Given the description of an element on the screen output the (x, y) to click on. 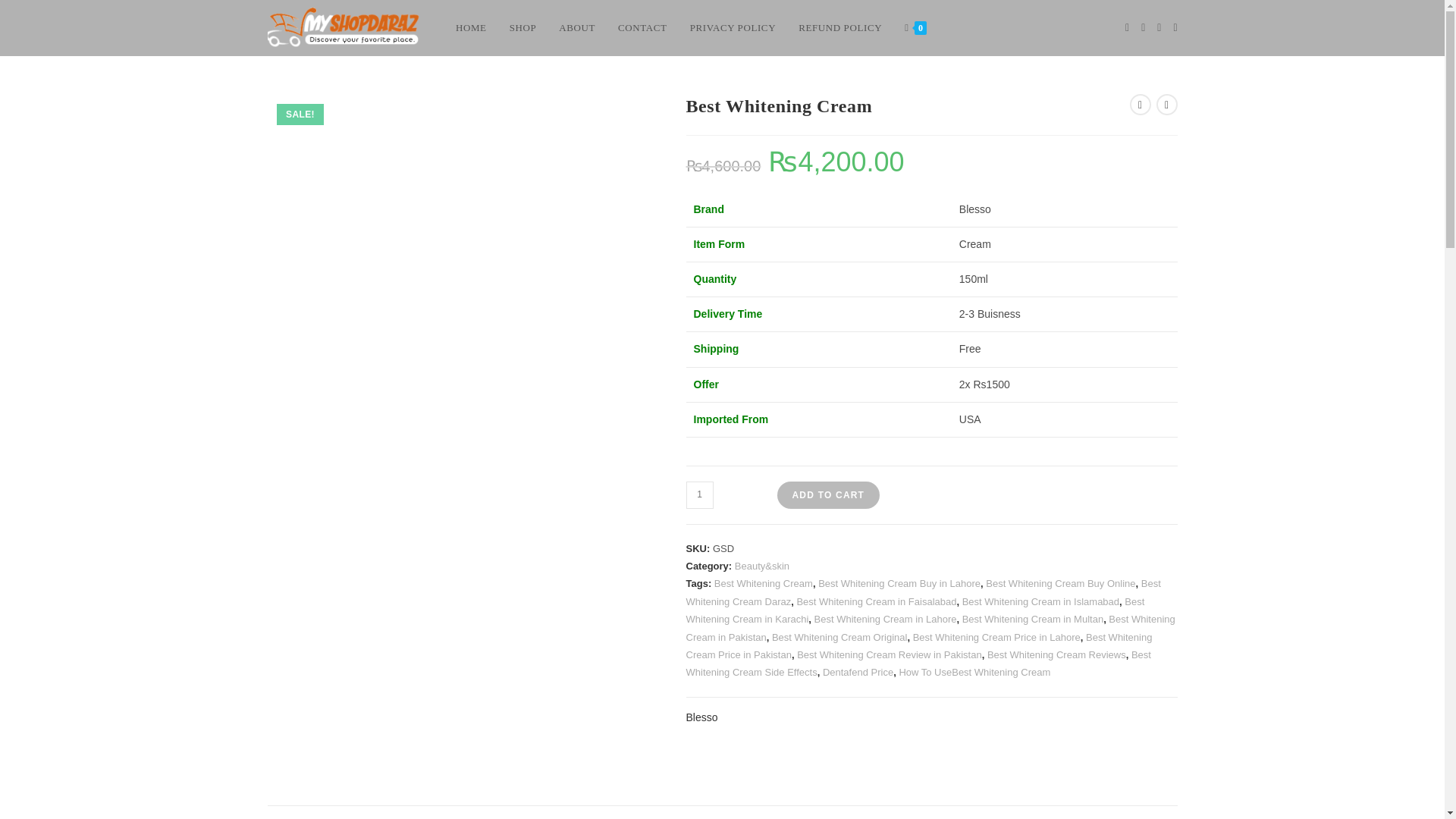
ADD TO CART (827, 494)
REFUND POLICY (840, 28)
SHOP (522, 28)
ABOUT (577, 28)
Best Whitening Cream Buy in Lahore (898, 583)
View brand (701, 717)
Best Whitening Cream (763, 583)
3480 (1104, 24)
1 (699, 494)
PRIVACY POLICY (732, 28)
